Given the description of an element on the screen output the (x, y) to click on. 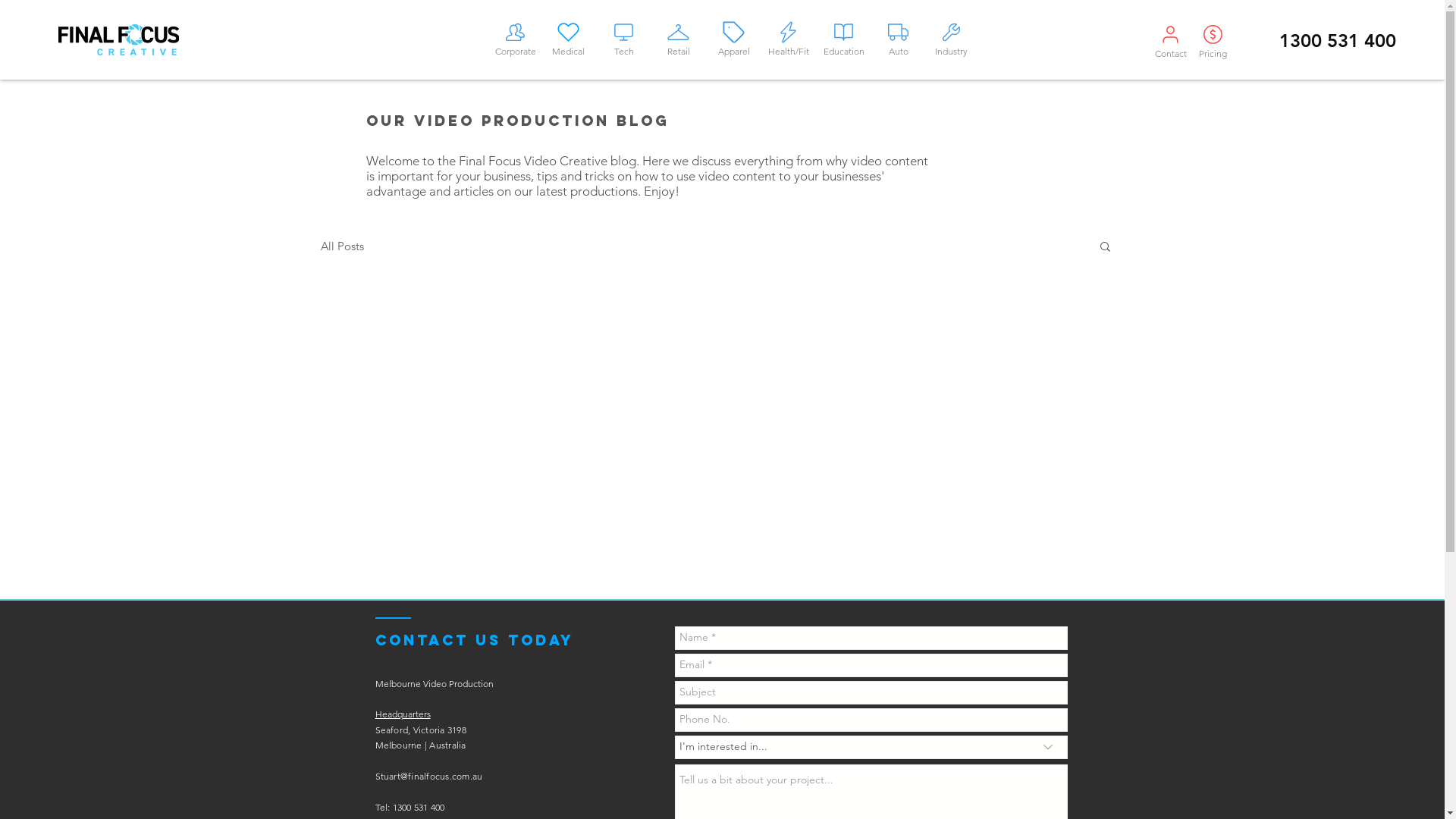
Health/Fit Element type: text (787, 37)
Retail Element type: text (678, 37)
Corporate Element type: text (514, 37)
Education Element type: text (843, 37)
Contact Element type: text (1170, 39)
Tech Element type: text (623, 37)
Homepage Element type: hover (118, 39)
Medical Element type: text (567, 37)
1300 531 400 Element type: text (1336, 40)
Apparel Element type: text (732, 37)
Stuart@finalfocus.com.au Element type: text (428, 775)
Auto Element type: text (898, 37)
Industry Element type: text (951, 37)
All Posts Element type: text (341, 245)
Pricing Element type: text (1212, 39)
